Given the description of an element on the screen output the (x, y) to click on. 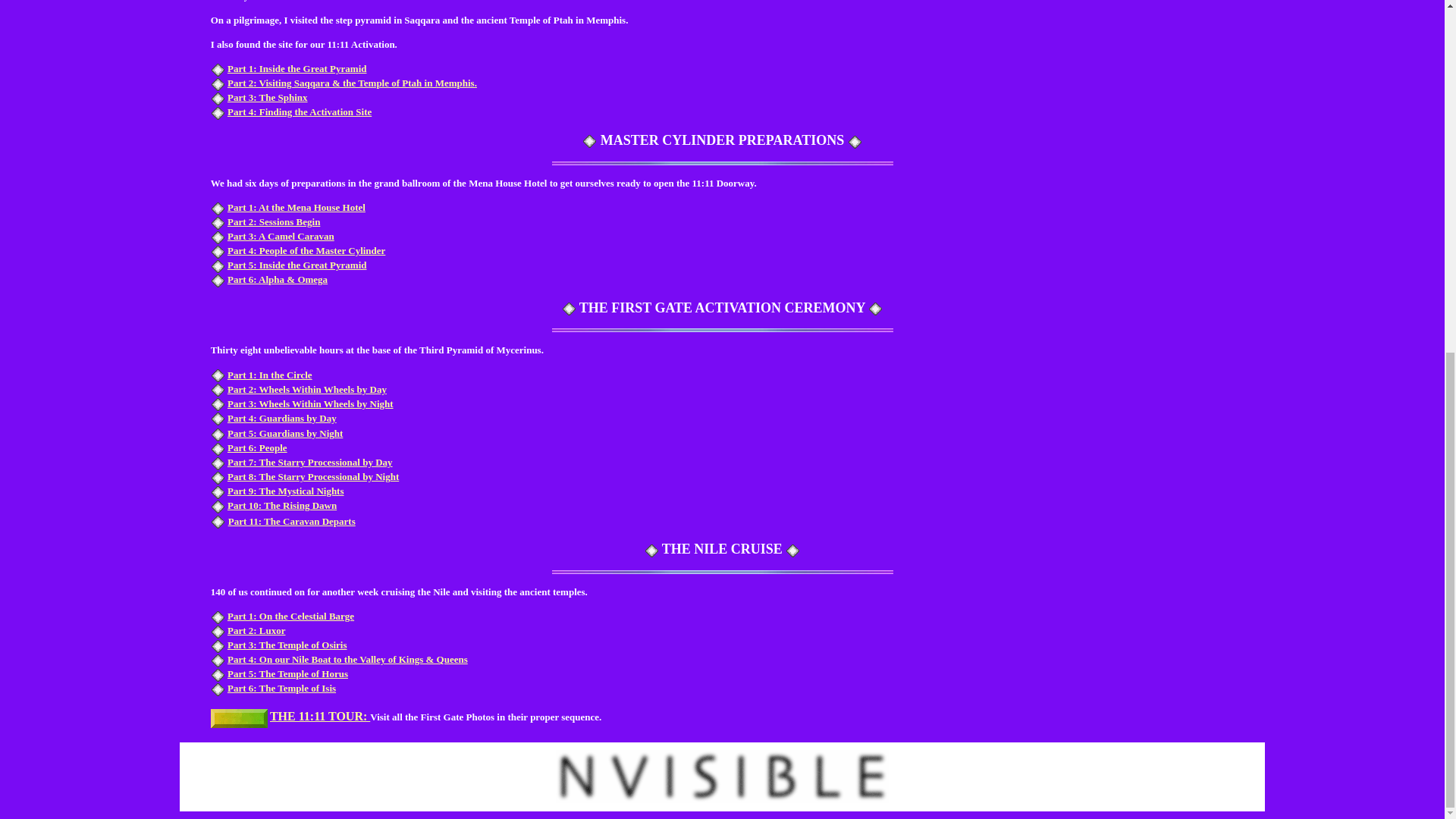
Part 6: The Temple of Isis (281, 687)
Part 1: Inside the Great Pyramid (296, 68)
Part 5: Guardians by Night (284, 432)
Part 6: People (256, 447)
Part 4: People of the Master Cylinder (306, 250)
Part 2: Sessions Begin (273, 221)
Part 4: Finding the Activation Site (299, 111)
Part 9: The Mystical Nights (285, 490)
Part 3: Wheels Within Wheels by Night (310, 403)
Part 10: The Rising Dawn (281, 505)
